Given the description of an element on the screen output the (x, y) to click on. 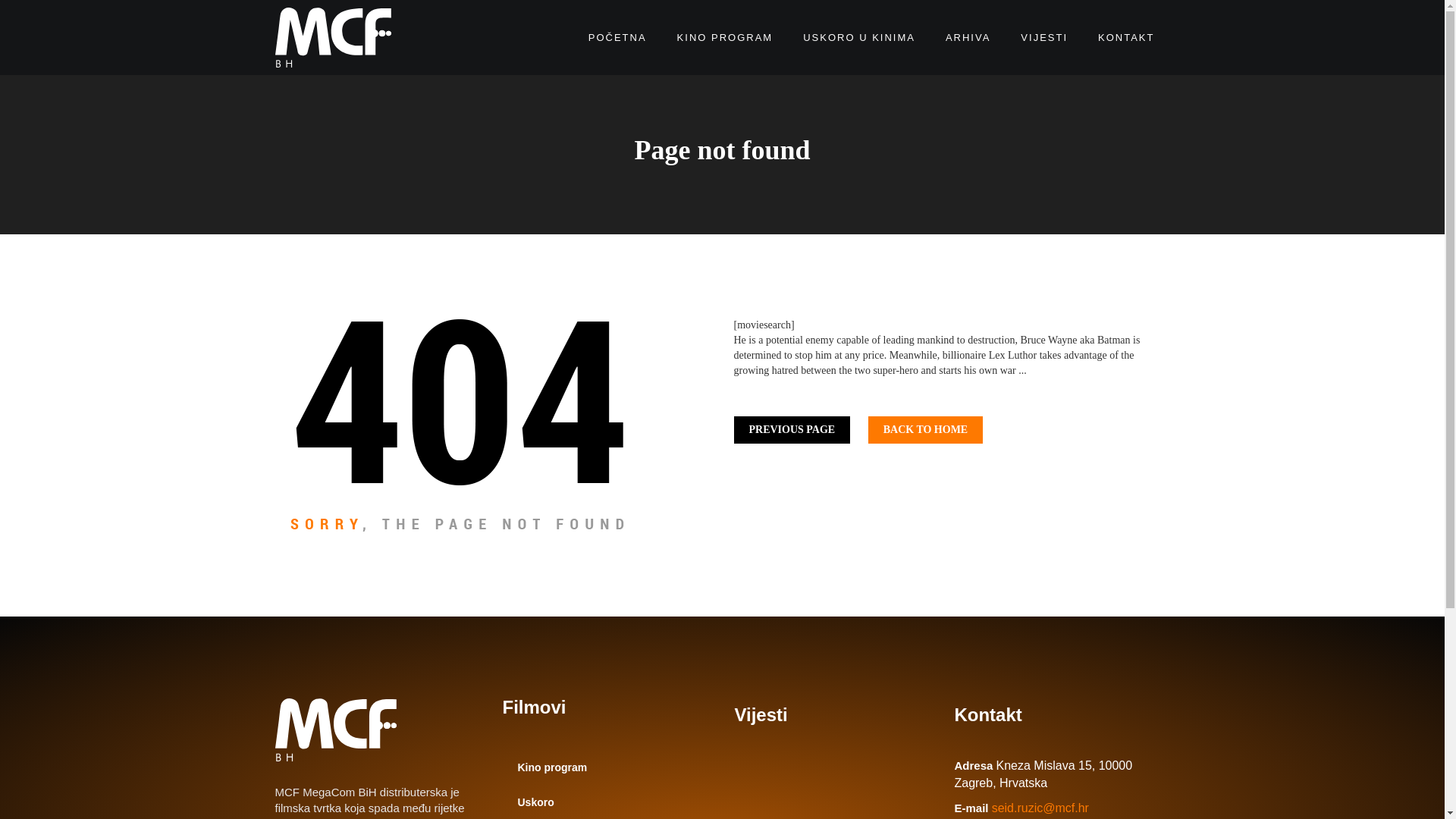
ARHIVA Element type: text (967, 37)
PREVIOUS PAGE Element type: text (792, 429)
Kino program Element type: text (606, 766)
KINO PROGRAM Element type: text (725, 37)
BACK TO HOME Element type: text (925, 429)
VIJESTI Element type: text (1043, 37)
KONTAKT Element type: text (1125, 37)
seid.ruzic@mcf.hr Element type: text (1039, 807)
USKORO U KINIMA Element type: text (858, 37)
